Given the description of an element on the screen output the (x, y) to click on. 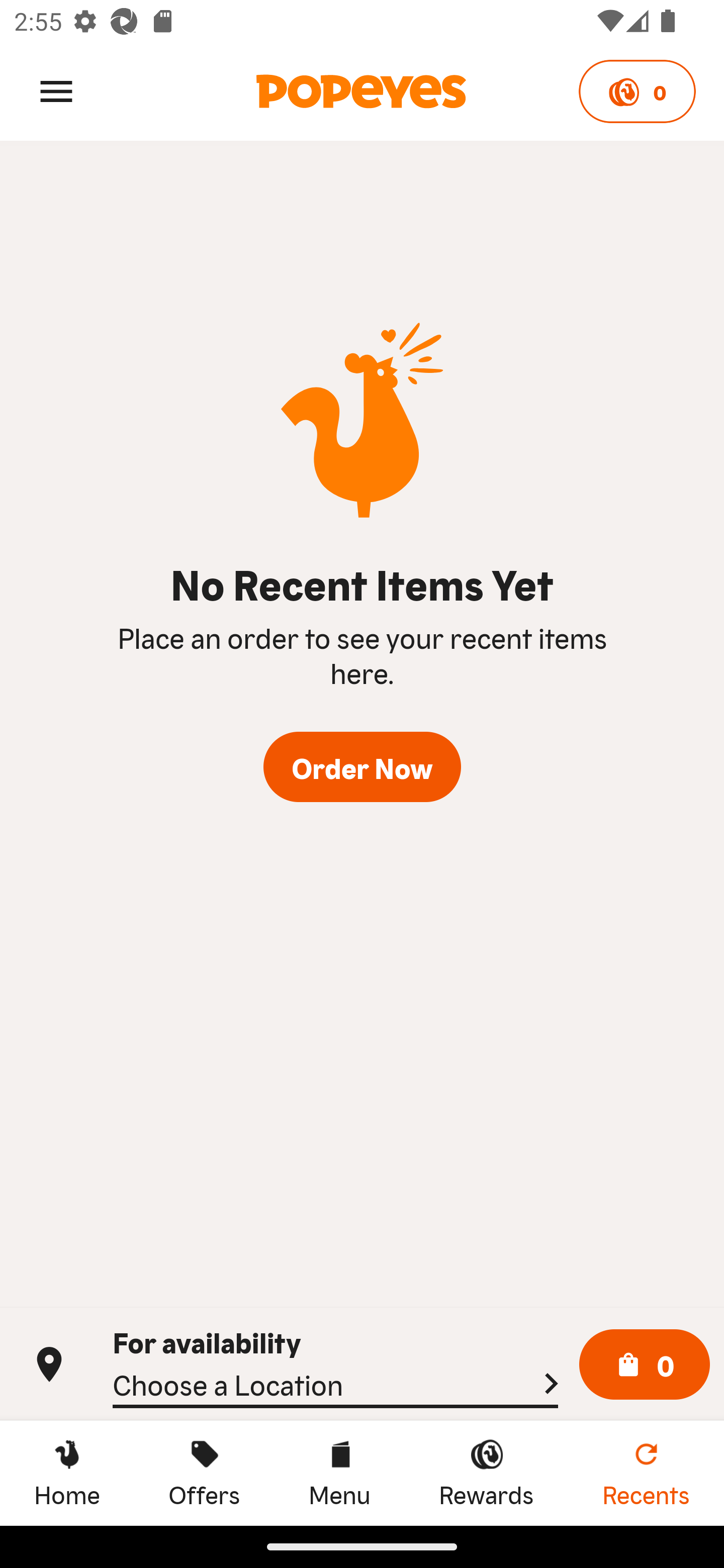
Menu  (56, 90)
0 Points 0 (636, 91)
Order Now (362, 767)
0 Cart total  0 (644, 1364)
Home Home Home (66, 1472)
Offers Offers Offers (203, 1472)
Menu Menu Menu (339, 1472)
Rewards Rewards Rewards (486, 1472)
